Given the description of an element on the screen output the (x, y) to click on. 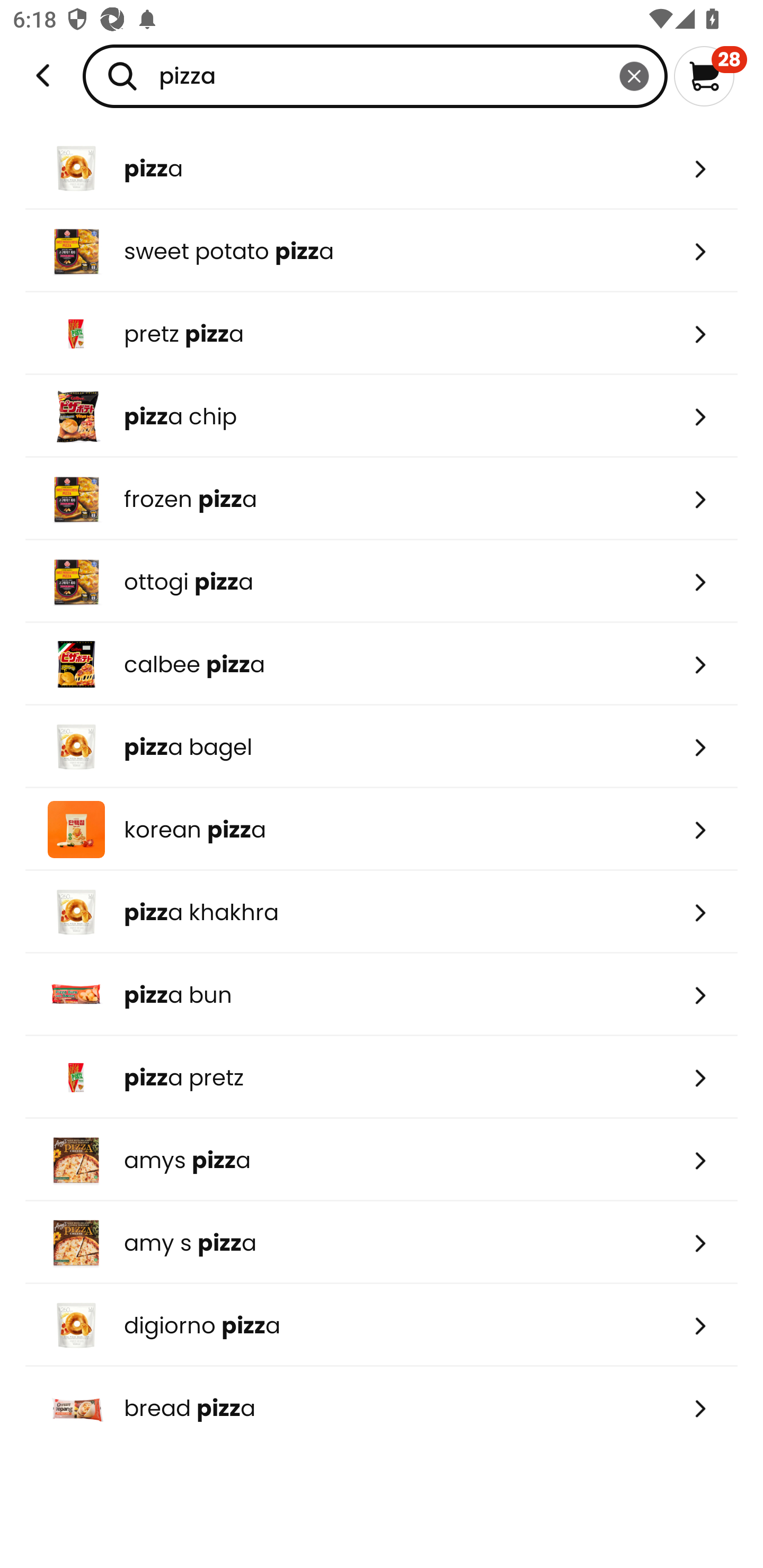
pizza (374, 75)
28 (709, 75)
Weee! (42, 76)
pizza (381, 168)
sweet potato pizza (381, 250)
pretz pizza (381, 332)
pizza chip (381, 415)
frozen pizza (381, 498)
ottogi pizza (381, 581)
calbee pizza (381, 663)
pizza bagel (381, 746)
korean pizza (381, 829)
pizza khakhra (381, 911)
pizza bun (381, 994)
pizza pretz (381, 1077)
amys pizza (381, 1160)
amy s pizza (381, 1242)
digiorno pizza (381, 1325)
bread pizza (381, 1407)
